Given the description of an element on the screen output the (x, y) to click on. 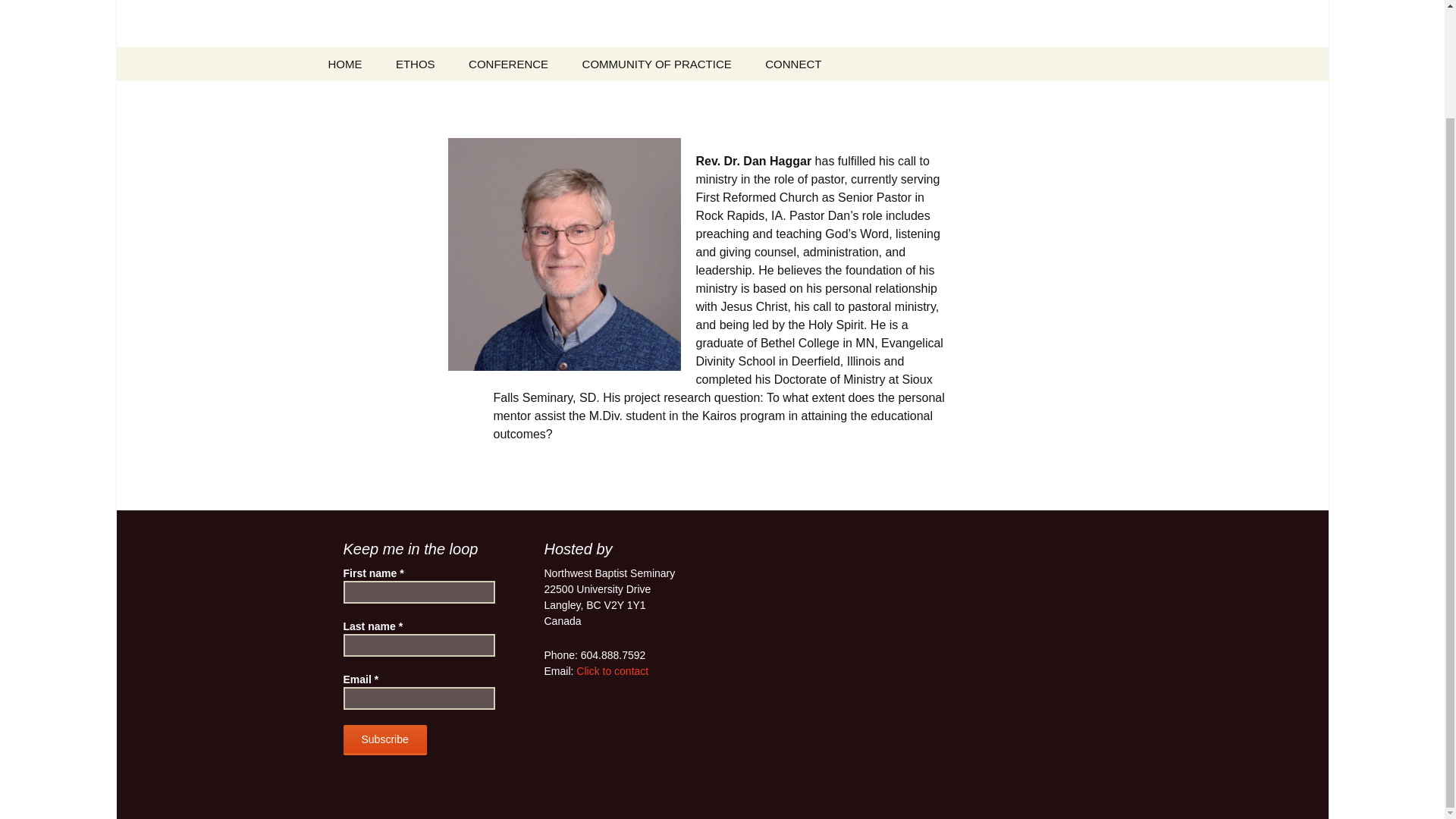
Last name (418, 644)
WHAT IS CBTE? (456, 98)
CONNECT (792, 63)
CBTE COMMUNITY OF PRACTICE LEAD TEAM (643, 109)
CONFERENCE (507, 63)
Click to contact (611, 671)
COMMUNITY OF PRACTICE (656, 63)
Subscribe (384, 739)
